Given the description of an element on the screen output the (x, y) to click on. 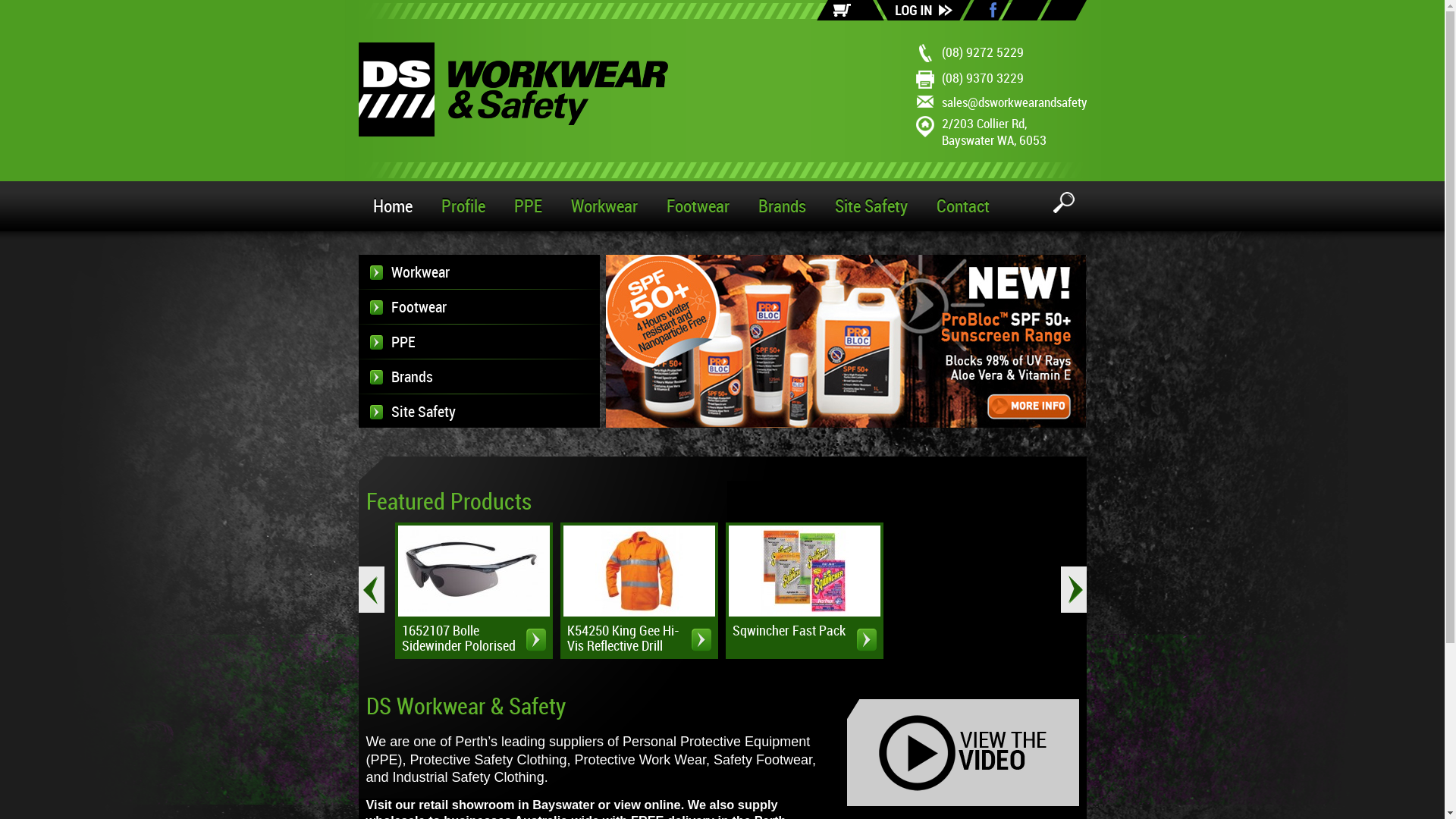
K54250 King Gee Hi-Vis Reflective Drill Shirt Element type: hover (639, 571)
1652107 Bolle Sidewinder Polorised Safety Glasses Element type: hover (473, 570)
K54250 King Gee Hi-Vis Reflective Drill Shirt Element type: hover (701, 639)
Sqwincher Fast Pack Element type: hover (866, 639)
Brands Element type: text (478, 376)
Brands Element type: text (781, 206)
Site Safety Element type: text (478, 411)
Contact Element type: text (963, 206)
Sqwincher Fast Pack Element type: hover (804, 570)
PPE Element type: text (478, 341)
Workwear Element type: text (478, 271)
1652107 Bolle Sidewinder Polorised Safety Glasses Element type: hover (473, 570)
Home Element type: text (391, 206)
Next Element type: hover (1072, 589)
Banner 1 Element type: hover (845, 340)
Site Safety Element type: text (871, 206)
K54250 King Gee Hi-Vis Reflective Drill Shirt Element type: hover (639, 570)
sales@dsworkwearandsafety.com.au Element type: text (1033, 102)
Workwear Element type: text (604, 206)
(08) 9272 5229 Element type: text (982, 52)
Previous Element type: hover (370, 589)
Profile Element type: text (462, 206)
Footwear Element type: text (697, 206)
1652107 Bolle Sidewinder Polorised Safety Glasses Element type: hover (536, 639)
DS Workwear & Safety Element type: hover (512, 89)
PPE Element type: text (526, 206)
Sqwincher Fast Pack Element type: hover (804, 571)
Footwear Element type: text (478, 306)
